Given the description of an element on the screen output the (x, y) to click on. 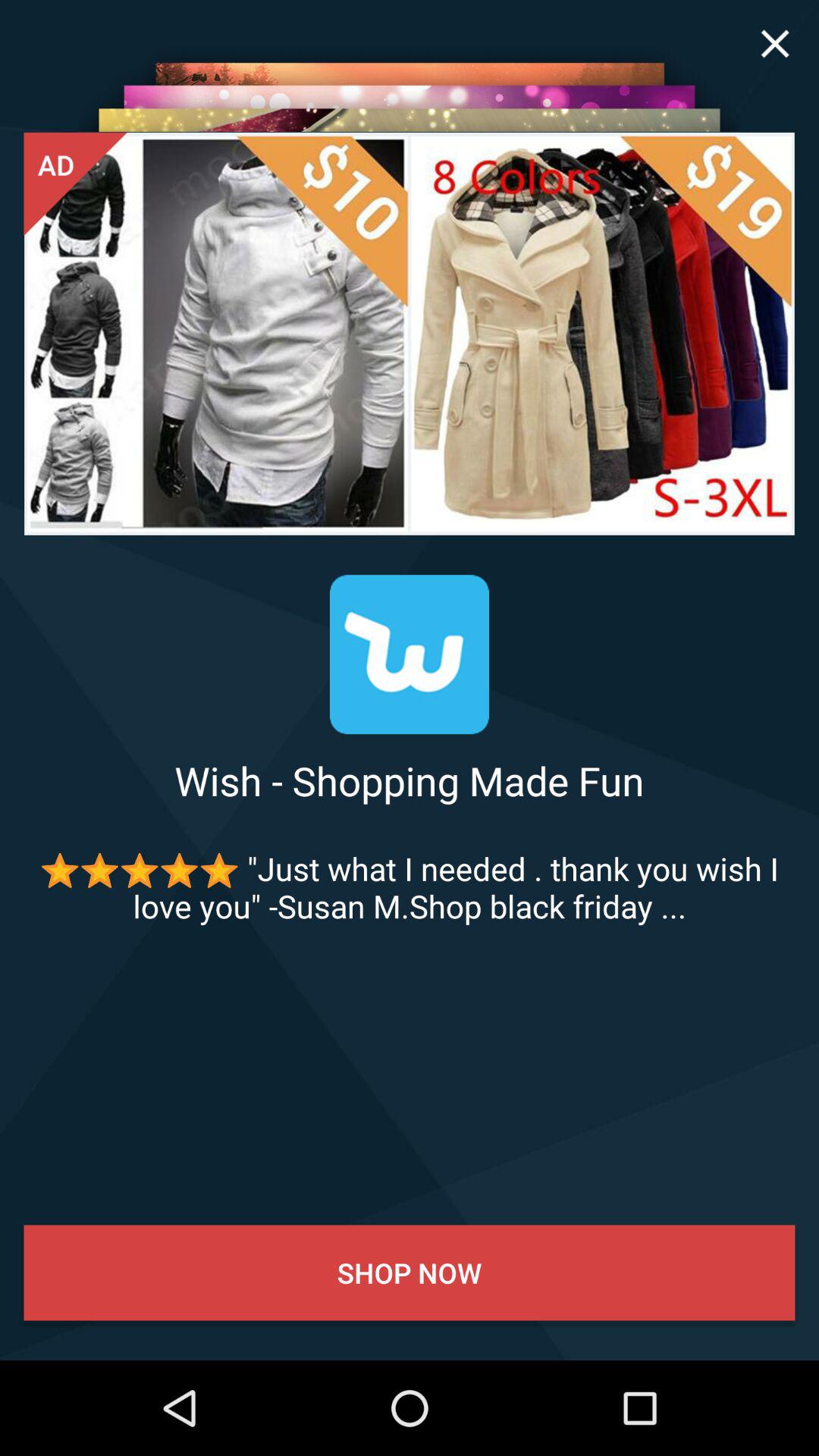
select the app below the just what i app (409, 1272)
